Given the description of an element on the screen output the (x, y) to click on. 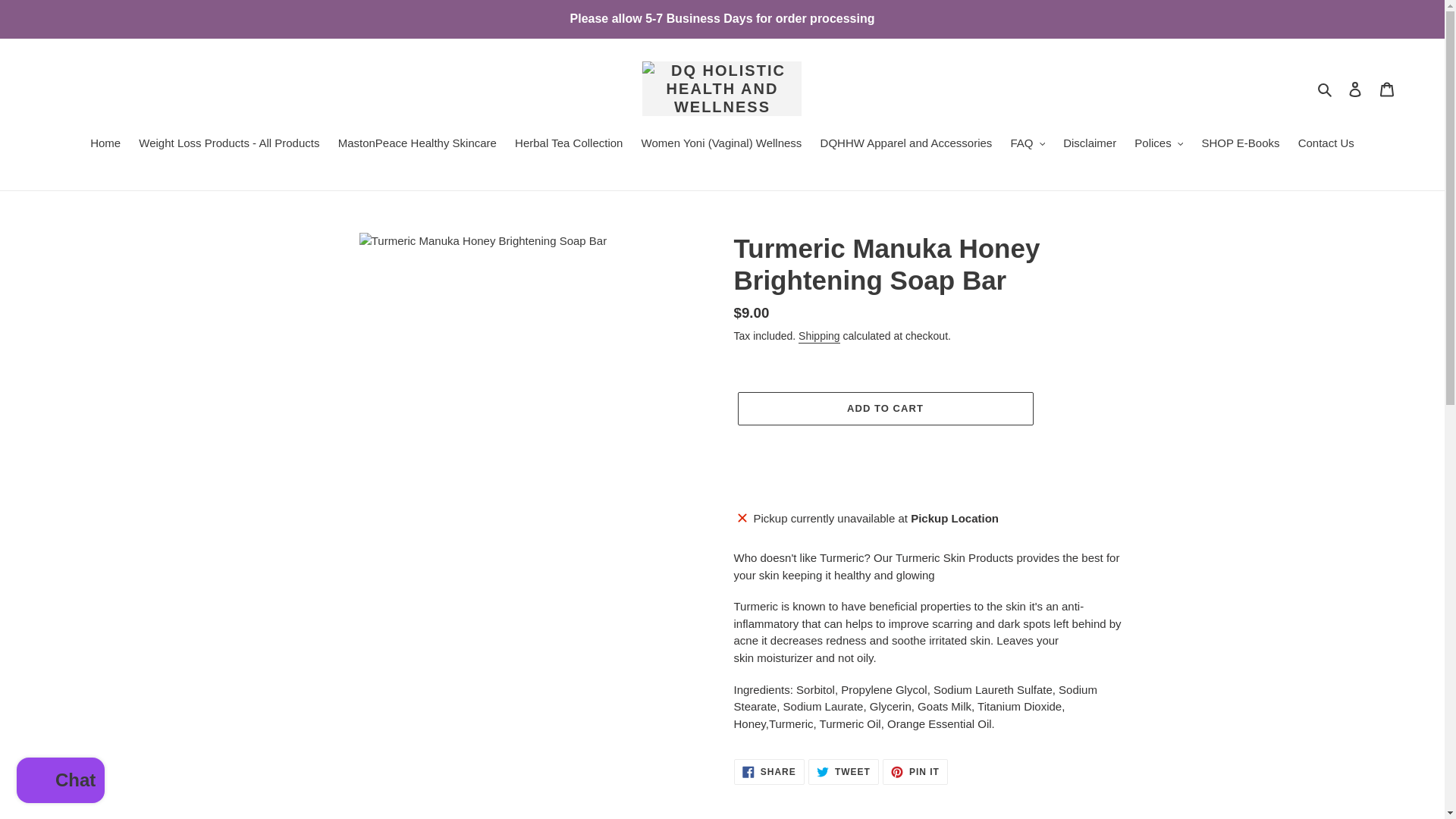
Please allow 5-7 Business Days for order processing (721, 18)
MastonPeace Healthy Skincare (416, 144)
Search (1326, 88)
DQHHW Apparel and Accessories (906, 144)
Shopify online store chat (60, 781)
Weight Loss Products - All Products (228, 144)
Log in (1355, 88)
Home (105, 144)
Cart (1387, 88)
FAQ (1027, 144)
